Given the description of an element on the screen output the (x, y) to click on. 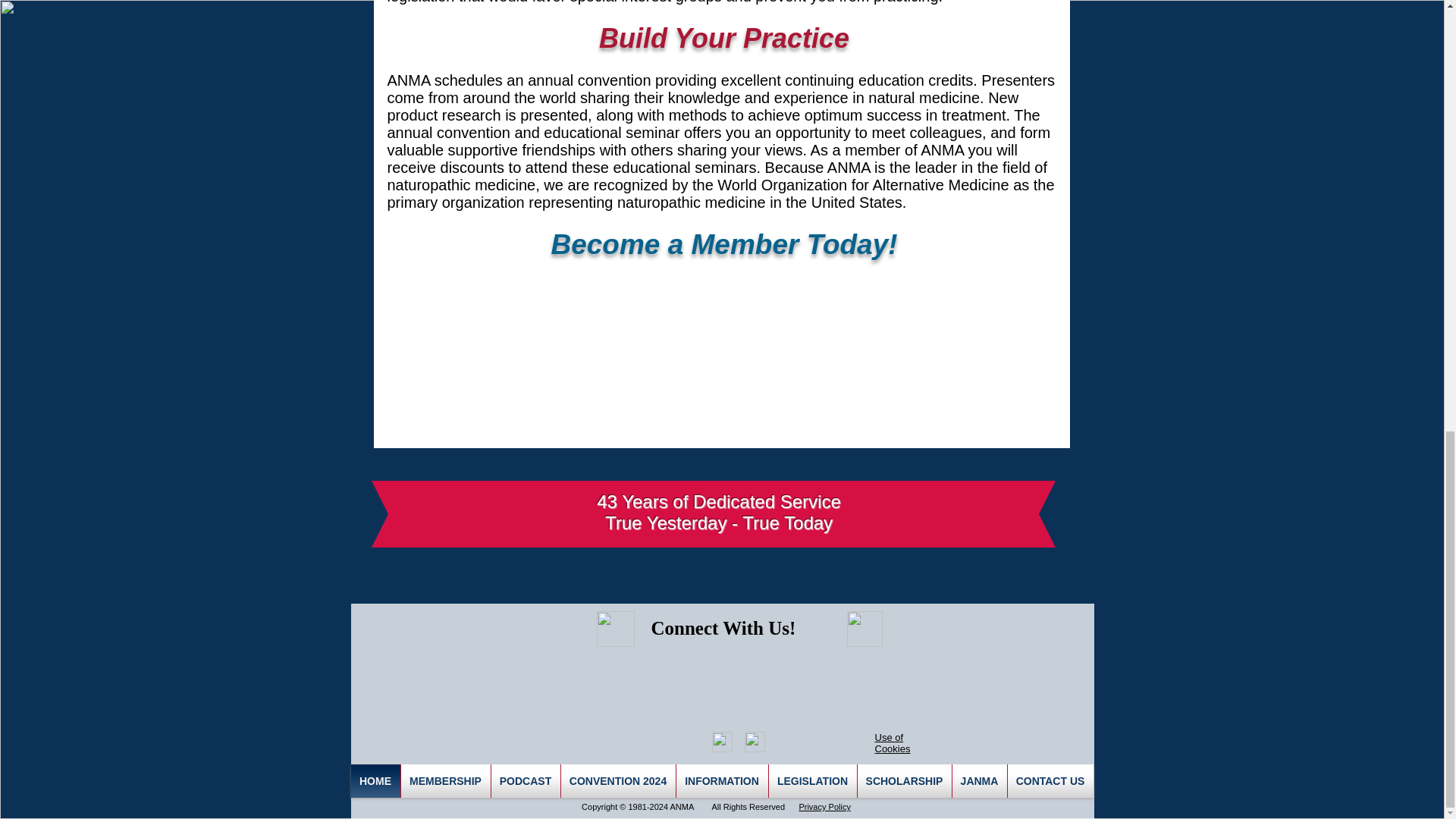
annual convention (588, 80)
Use of Cookies (893, 743)
MEMBERSHIP (444, 780)
HOME (374, 780)
INFORMATION (722, 780)
CONVENTION 2024 (617, 780)
LEGISLATION (812, 780)
PODCAST (526, 780)
